Given the description of an element on the screen output the (x, y) to click on. 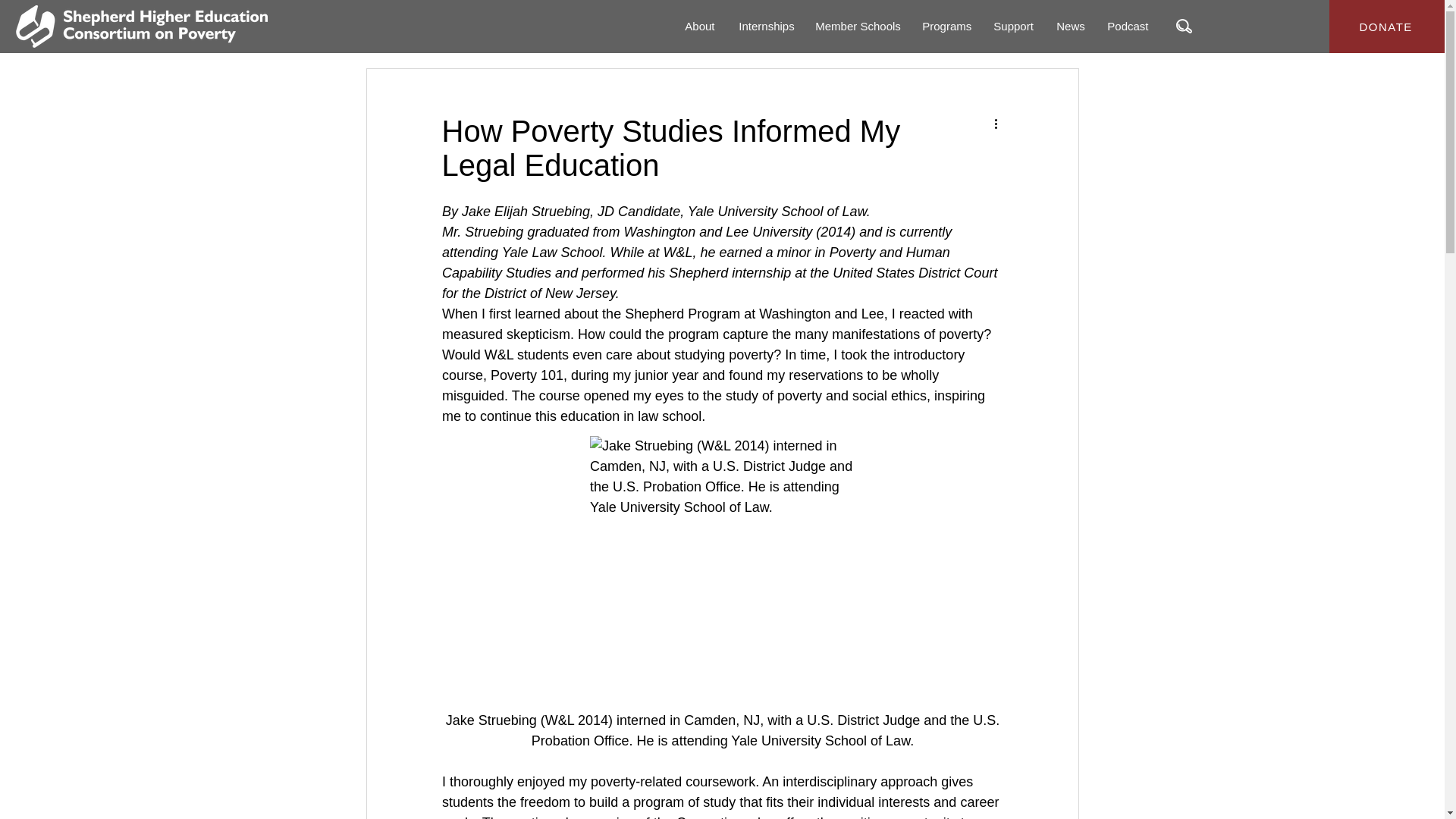
About (699, 26)
Internships (764, 26)
Podcast (1127, 26)
Support (1013, 26)
Member Schools (857, 26)
News (1070, 26)
DONATE (1387, 26)
Programs (946, 26)
